Given the description of an element on the screen output the (x, y) to click on. 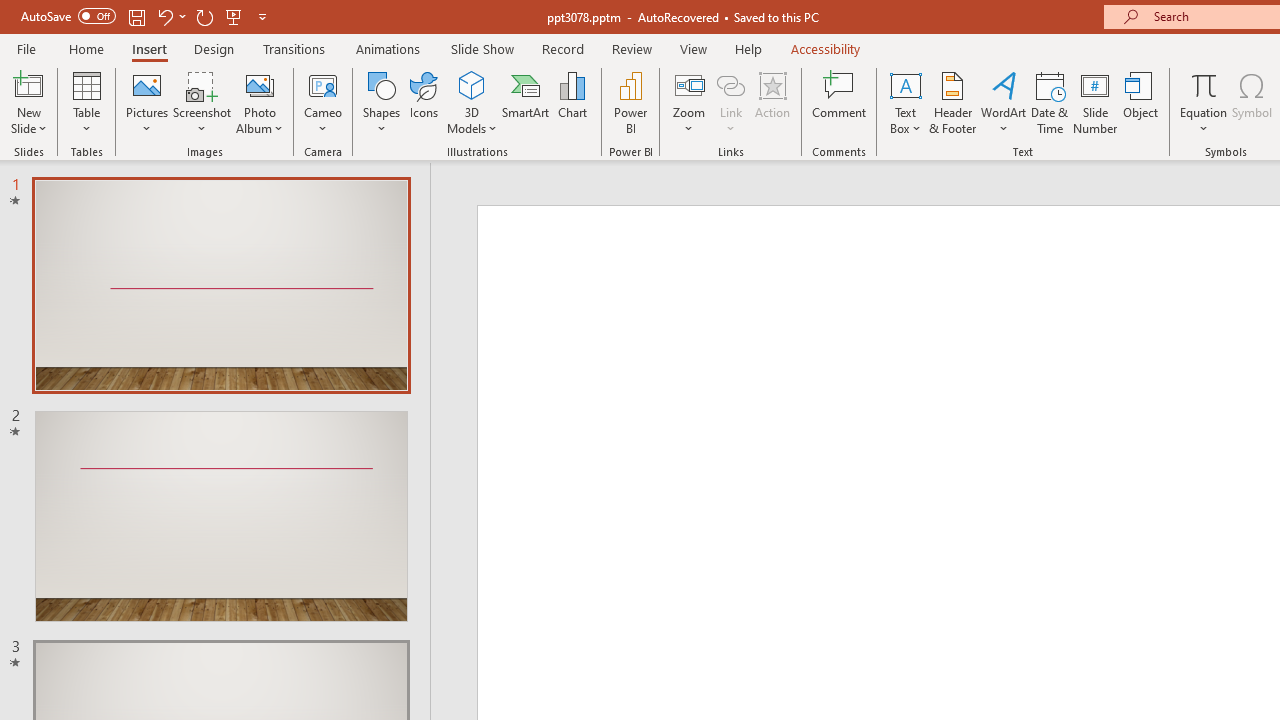
Comment (839, 102)
3D Models (472, 84)
Pictures (147, 102)
Power BI (630, 102)
Equation (1203, 102)
Link (731, 84)
Equation (1203, 84)
3D Models (472, 102)
Symbol... (1252, 102)
